Given the description of an element on the screen output the (x, y) to click on. 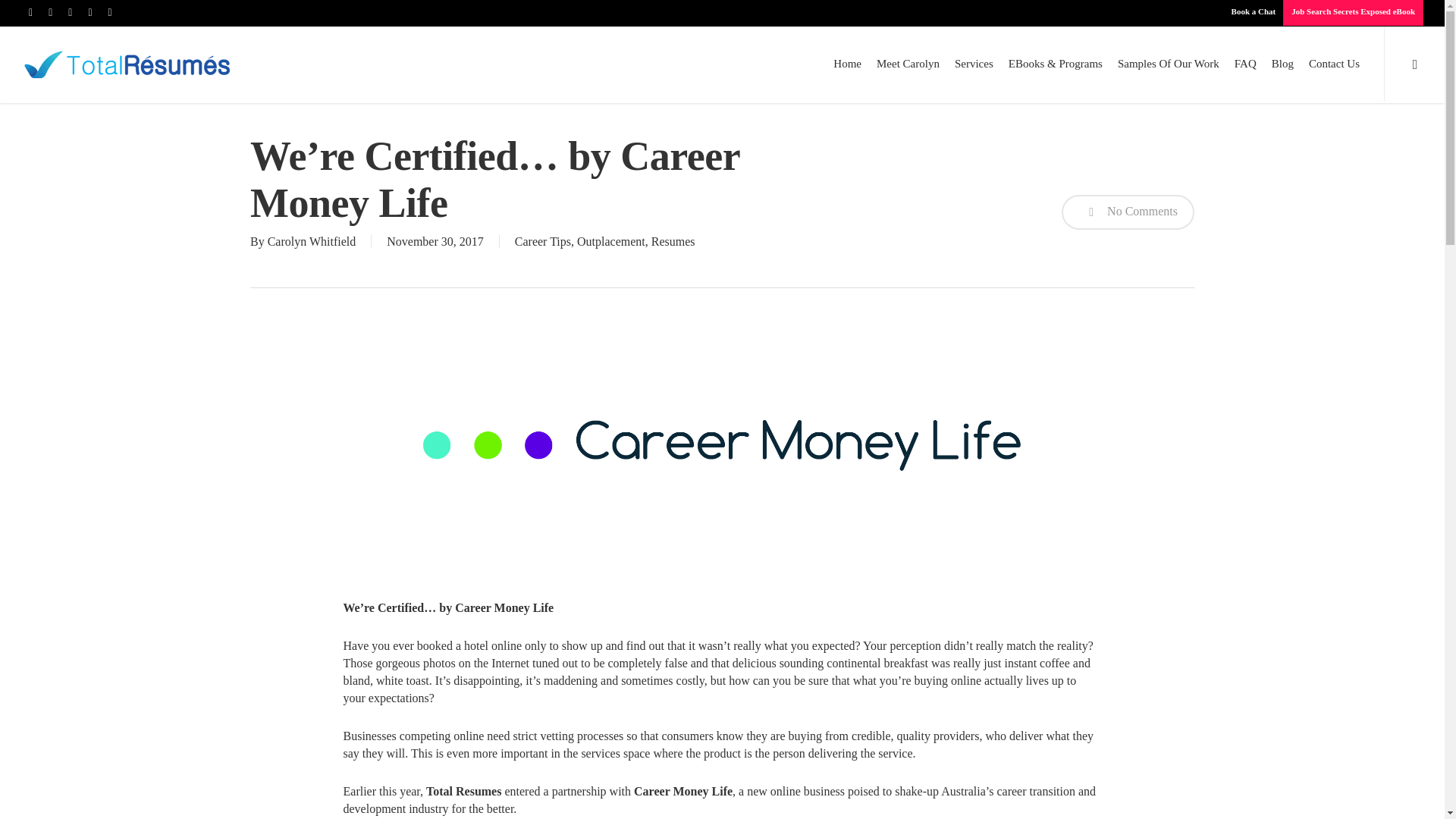
FAQ (1245, 62)
Samples Of Our Work (1168, 62)
Book a Chat (1253, 11)
Services (974, 62)
No Comments (1127, 211)
Meet Carolyn (908, 62)
Blog (1282, 62)
Carolyn Whitfield (311, 241)
Resumes (672, 241)
Home (847, 62)
Contact Us (1334, 62)
Career Tips (542, 241)
Job Search Secrets Exposed eBook (1352, 11)
Posts by Carolyn Whitfield (311, 241)
Outplacement (610, 241)
